Given the description of an element on the screen output the (x, y) to click on. 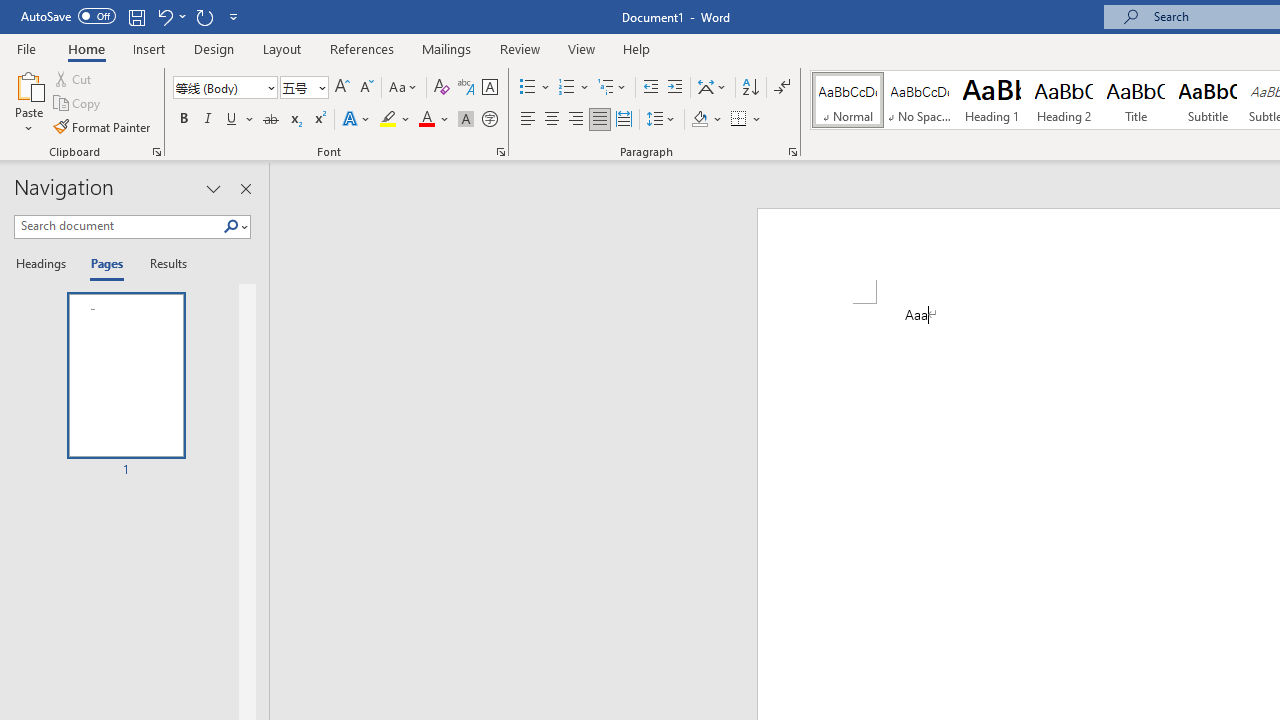
Grow Font (342, 87)
Paragraph... (792, 151)
Show/Hide Editing Marks (781, 87)
Justify (599, 119)
Pages (105, 264)
Font Color Red (426, 119)
Open (320, 87)
Font... (500, 151)
Enclose Characters... (489, 119)
Undo Increase Indent (170, 15)
Review (520, 48)
